Given the description of an element on the screen output the (x, y) to click on. 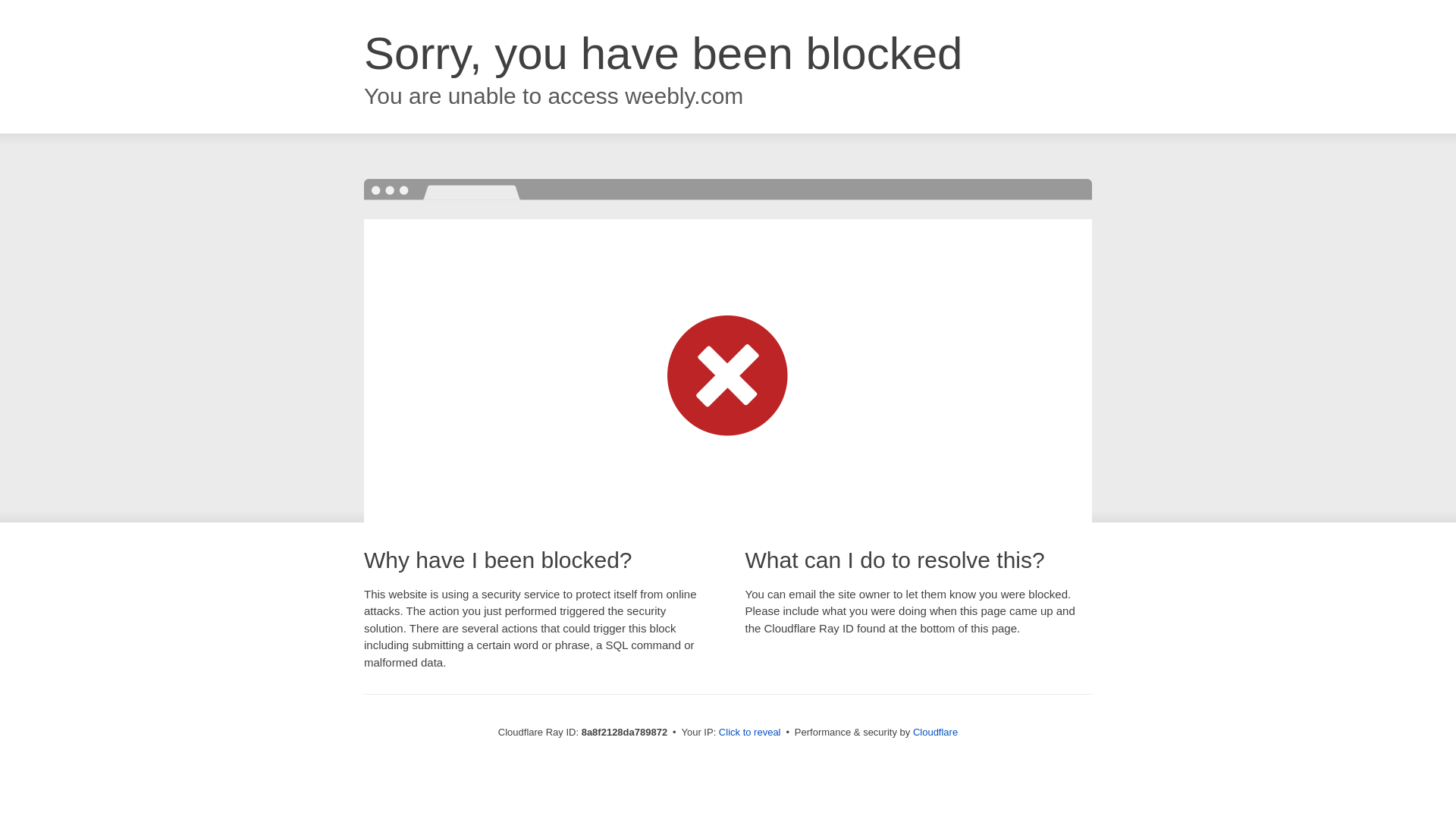
Cloudflare (935, 731)
Click to reveal (749, 732)
